Given the description of an element on the screen output the (x, y) to click on. 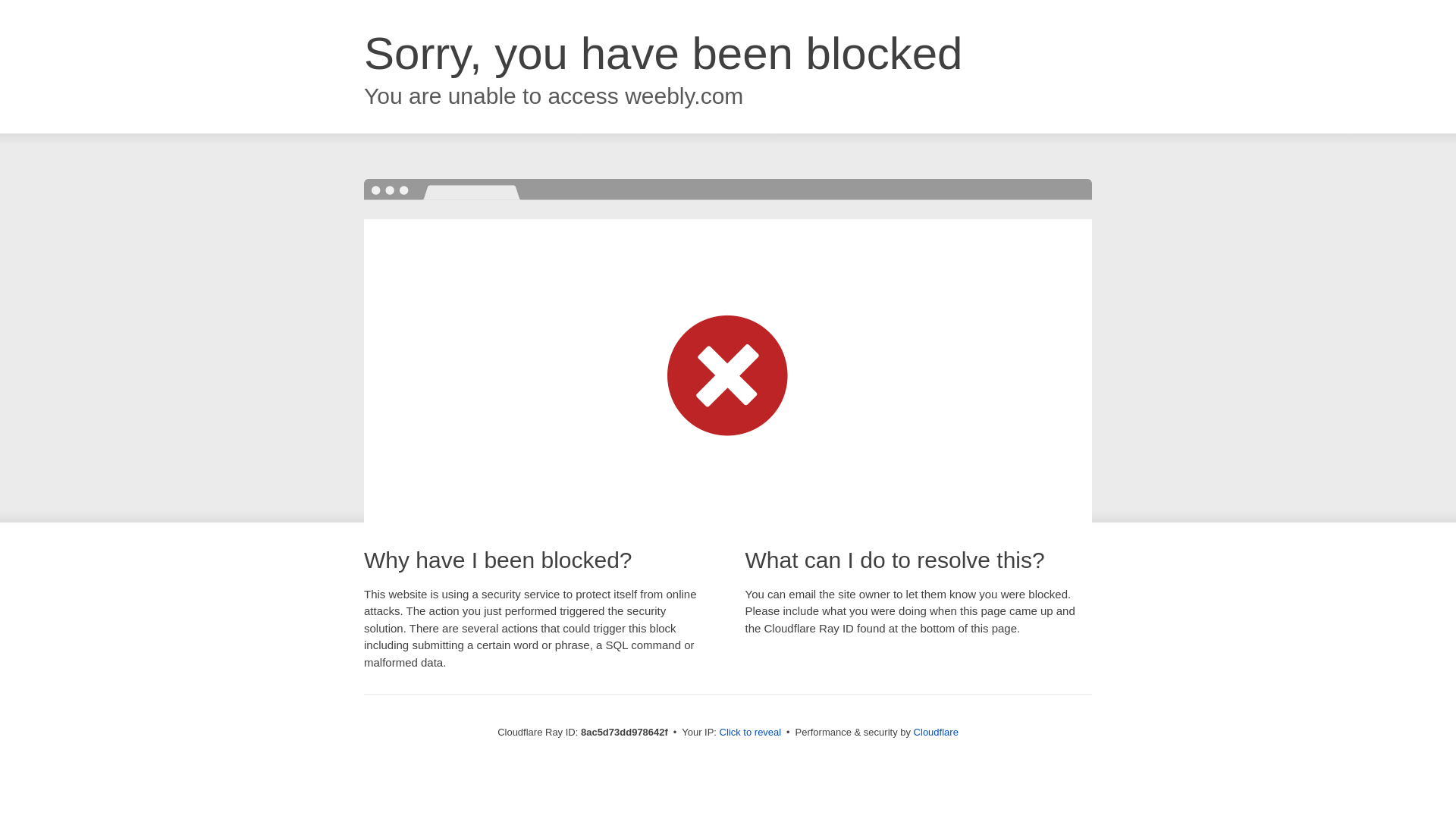
Click to reveal (750, 732)
Cloudflare (936, 731)
